Given the description of an element on the screen output the (x, y) to click on. 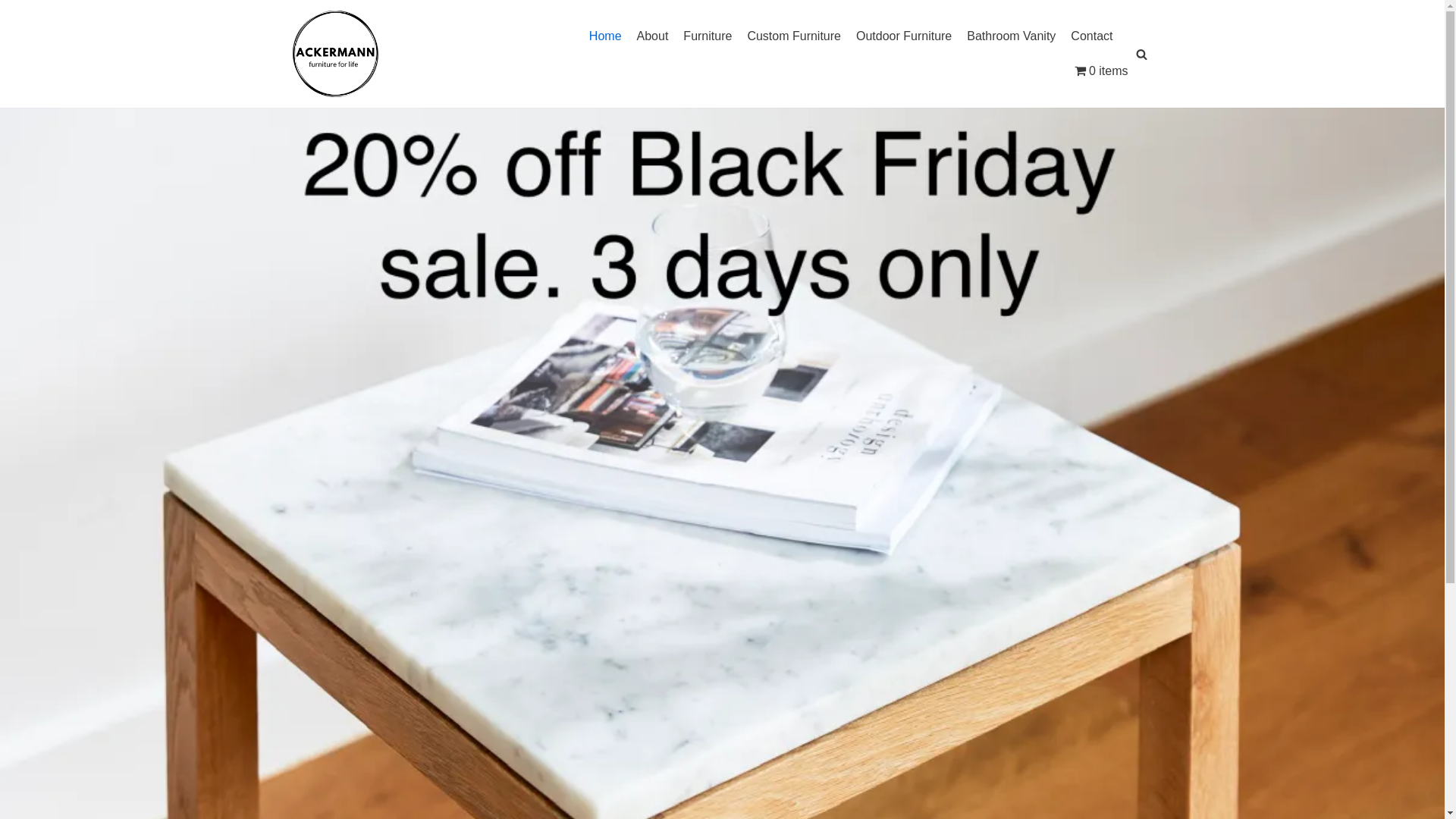
Contact Element type: text (1091, 36)
Custom Furniture Element type: text (793, 36)
Furniture Element type: text (707, 36)
About Element type: text (652, 36)
Home Element type: text (605, 36)
Bathroom Vanity Element type: text (1010, 36)
Search Element type: text (1137, 409)
Outdoor Furniture Element type: text (903, 36)
Skip to content Element type: text (15, 31)
ACKERMANN Element type: hover (334, 53)
0 items Element type: text (1101, 71)
